Given the description of an element on the screen output the (x, y) to click on. 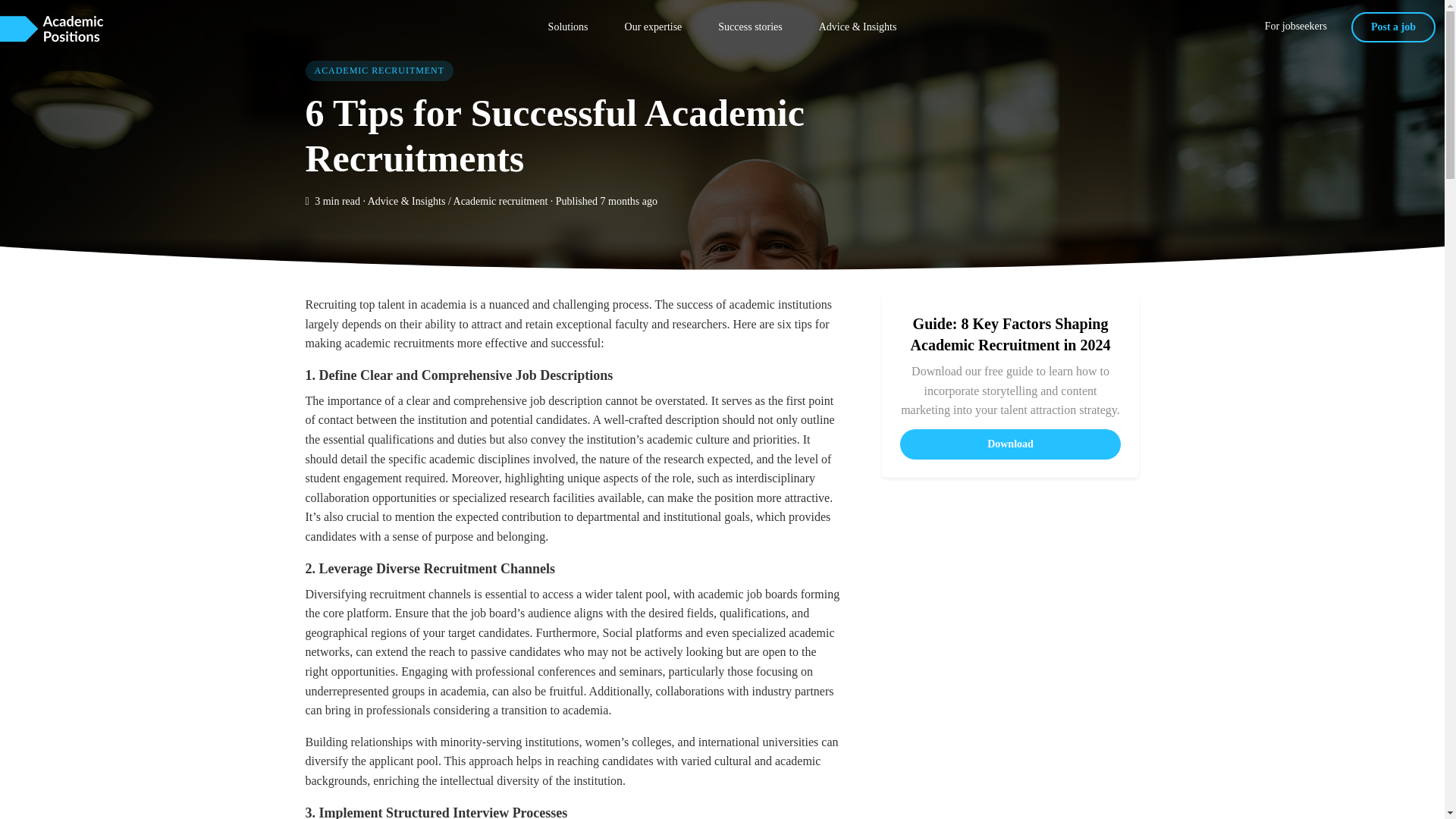
Solutions (568, 27)
Success stories (749, 27)
Our expertise (653, 27)
For jobseekers (1295, 26)
Academic recruitment (500, 201)
Solutions (568, 27)
Post a job (1393, 27)
Download (1010, 444)
